Given the description of an element on the screen output the (x, y) to click on. 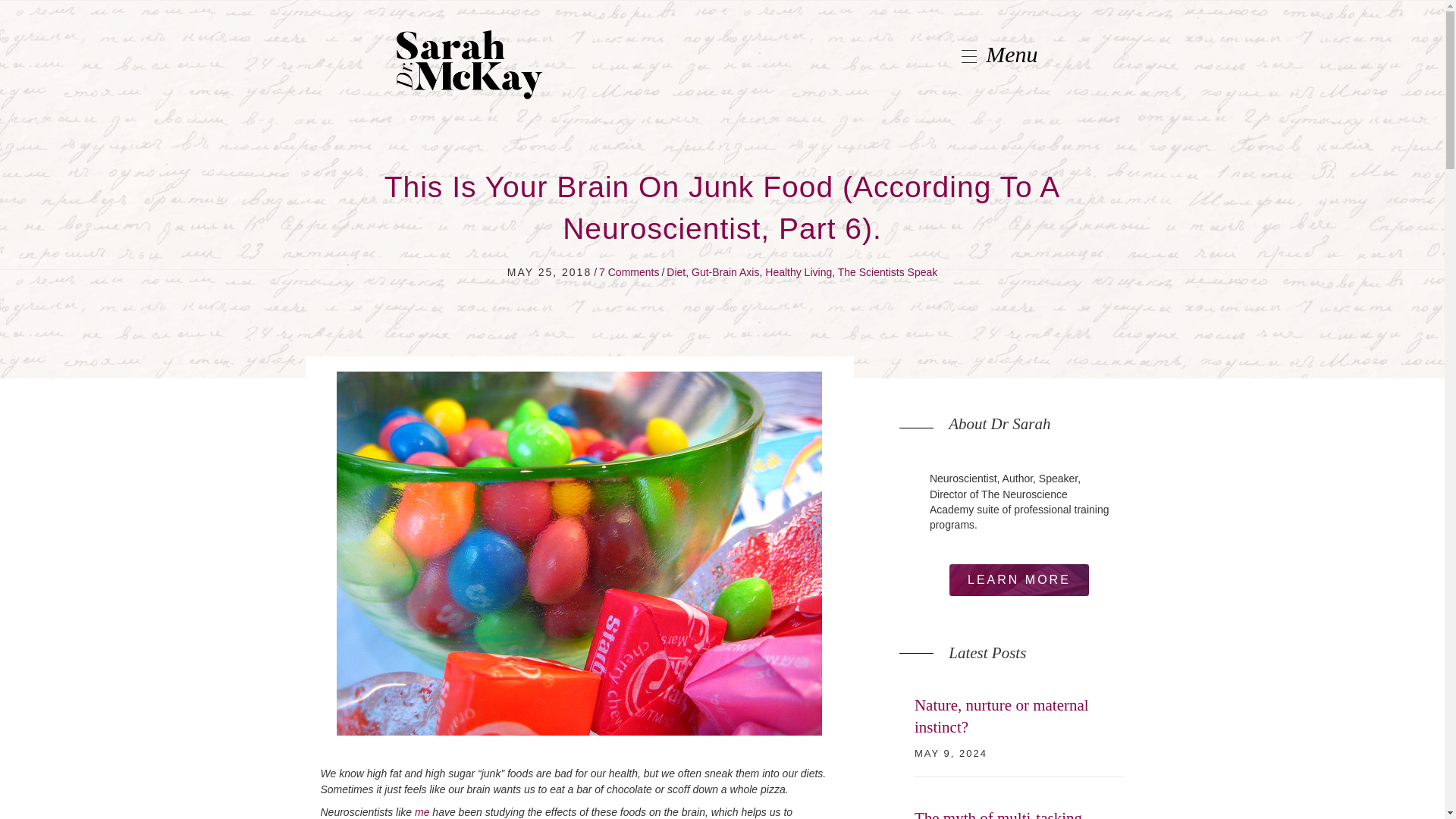
Gut-Brain Axis (724, 272)
Nature, nurture or maternal instinct? (1001, 716)
Menu (989, 54)
me (421, 811)
The Scientists Speak (887, 272)
The myth of multi-tasking. (1000, 814)
Healthy Living (798, 272)
Diet (675, 272)
sm-logo (469, 64)
7 Comments (628, 272)
